Given the description of an element on the screen output the (x, y) to click on. 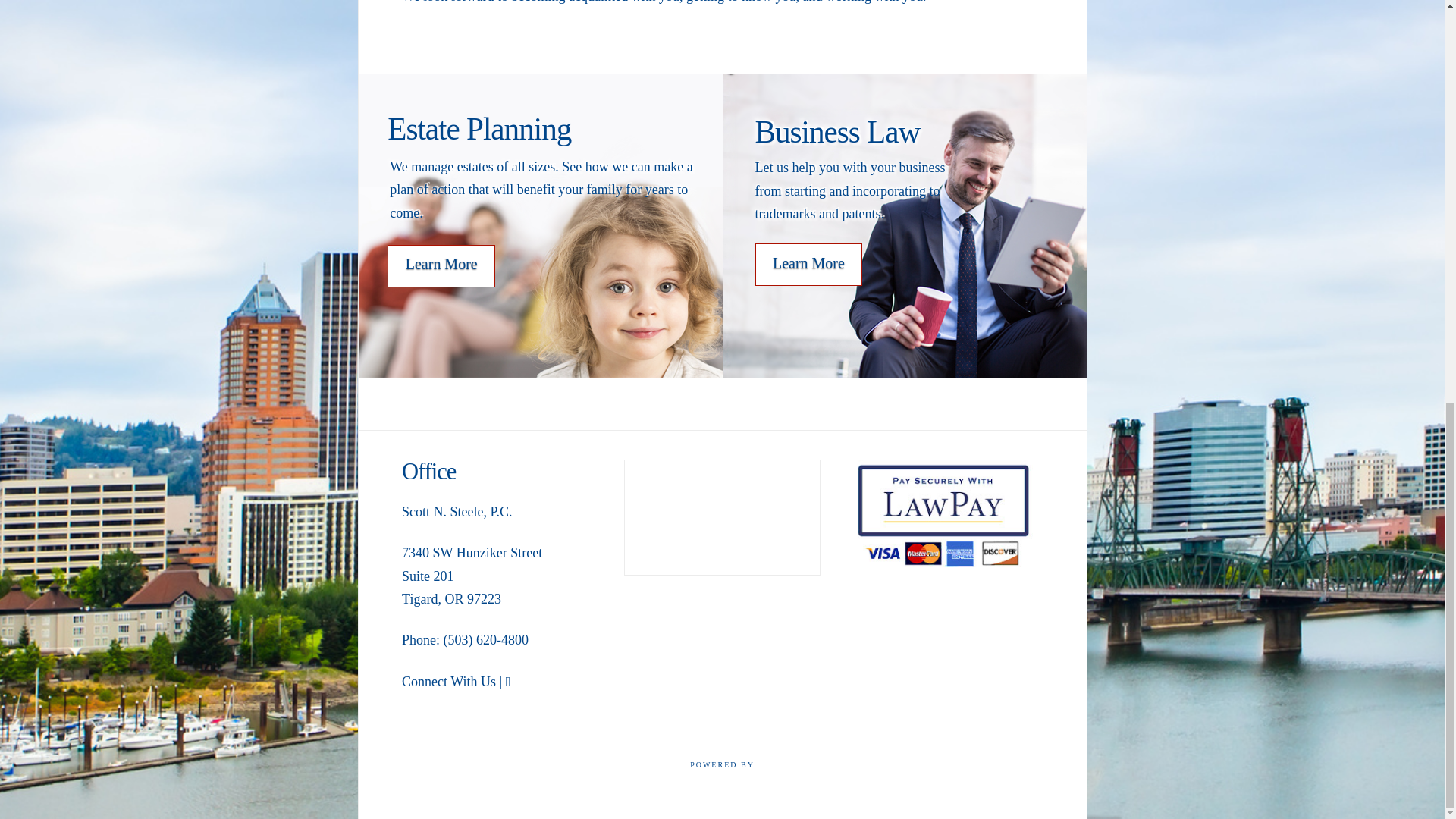
Learn More (809, 264)
PREPARED MARKETING (721, 774)
Powerd by Prepared marketing (721, 774)
Learn More (441, 265)
